Given the description of an element on the screen output the (x, y) to click on. 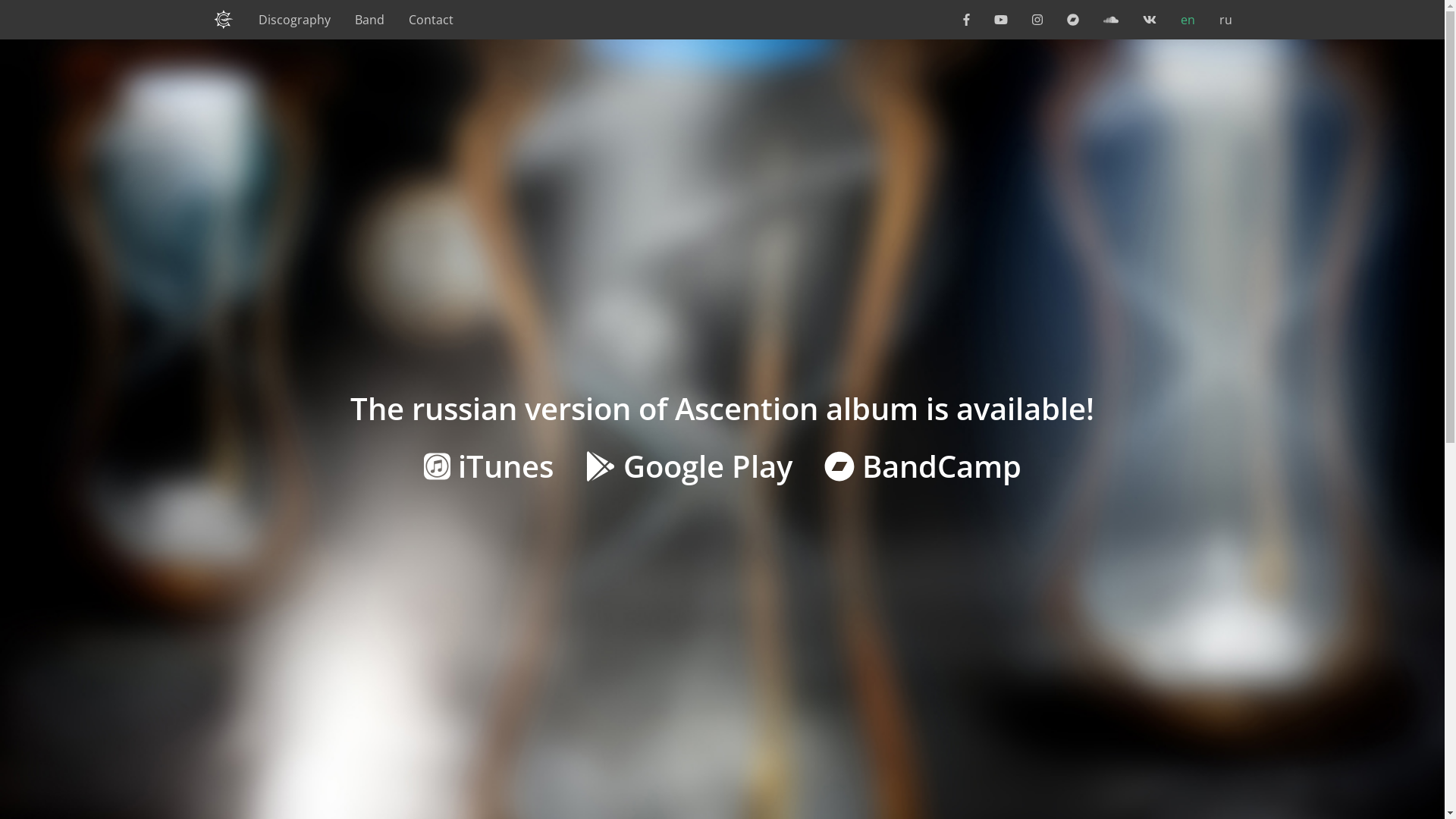
Google Play Element type: text (692, 465)
en Element type: text (1186, 19)
ru Element type: text (1225, 19)
Band Element type: text (369, 19)
Discography Element type: text (293, 19)
Contact Element type: text (429, 19)
BandCamp Element type: text (921, 465)
iTunes Element type: text (491, 465)
